Given the description of an element on the screen output the (x, y) to click on. 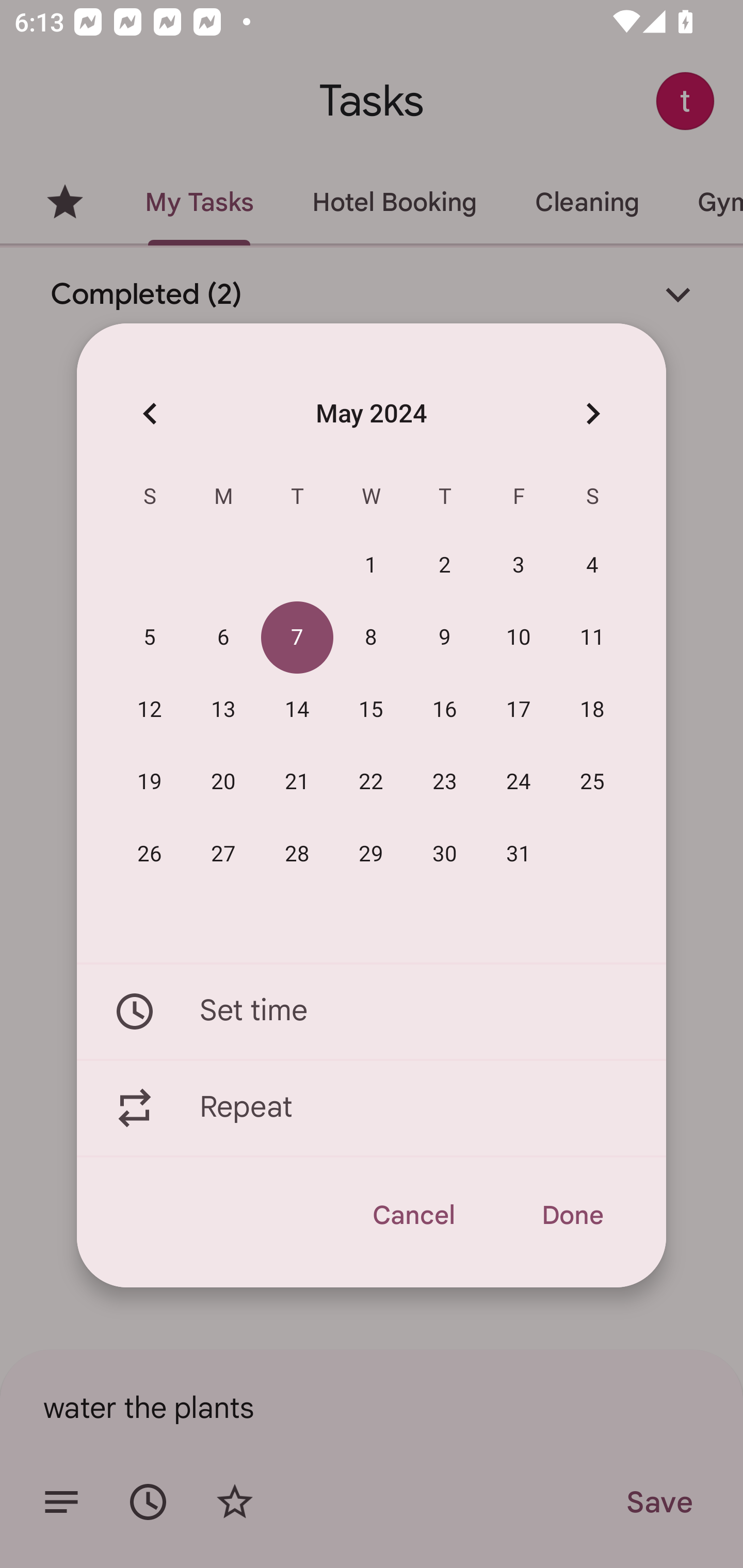
Previous month (149, 413)
Next month (592, 413)
1 01 May 2024 (370, 565)
2 02 May 2024 (444, 565)
3 03 May 2024 (518, 565)
4 04 May 2024 (592, 565)
5 05 May 2024 (149, 638)
6 06 May 2024 (223, 638)
7 07 May 2024 (297, 638)
8 08 May 2024 (370, 638)
9 09 May 2024 (444, 638)
10 10 May 2024 (518, 638)
11 11 May 2024 (592, 638)
12 12 May 2024 (149, 710)
13 13 May 2024 (223, 710)
14 14 May 2024 (297, 710)
15 15 May 2024 (370, 710)
16 16 May 2024 (444, 710)
17 17 May 2024 (518, 710)
18 18 May 2024 (592, 710)
19 19 May 2024 (149, 782)
20 20 May 2024 (223, 782)
21 21 May 2024 (297, 782)
22 22 May 2024 (370, 782)
23 23 May 2024 (444, 782)
24 24 May 2024 (518, 782)
25 25 May 2024 (592, 782)
26 26 May 2024 (149, 854)
27 27 May 2024 (223, 854)
28 28 May 2024 (297, 854)
29 29 May 2024 (370, 854)
30 30 May 2024 (444, 854)
31 31 May 2024 (518, 854)
Set time (371, 1011)
Repeat (371, 1108)
Cancel (412, 1215)
Done (571, 1215)
